Given the description of an element on the screen output the (x, y) to click on. 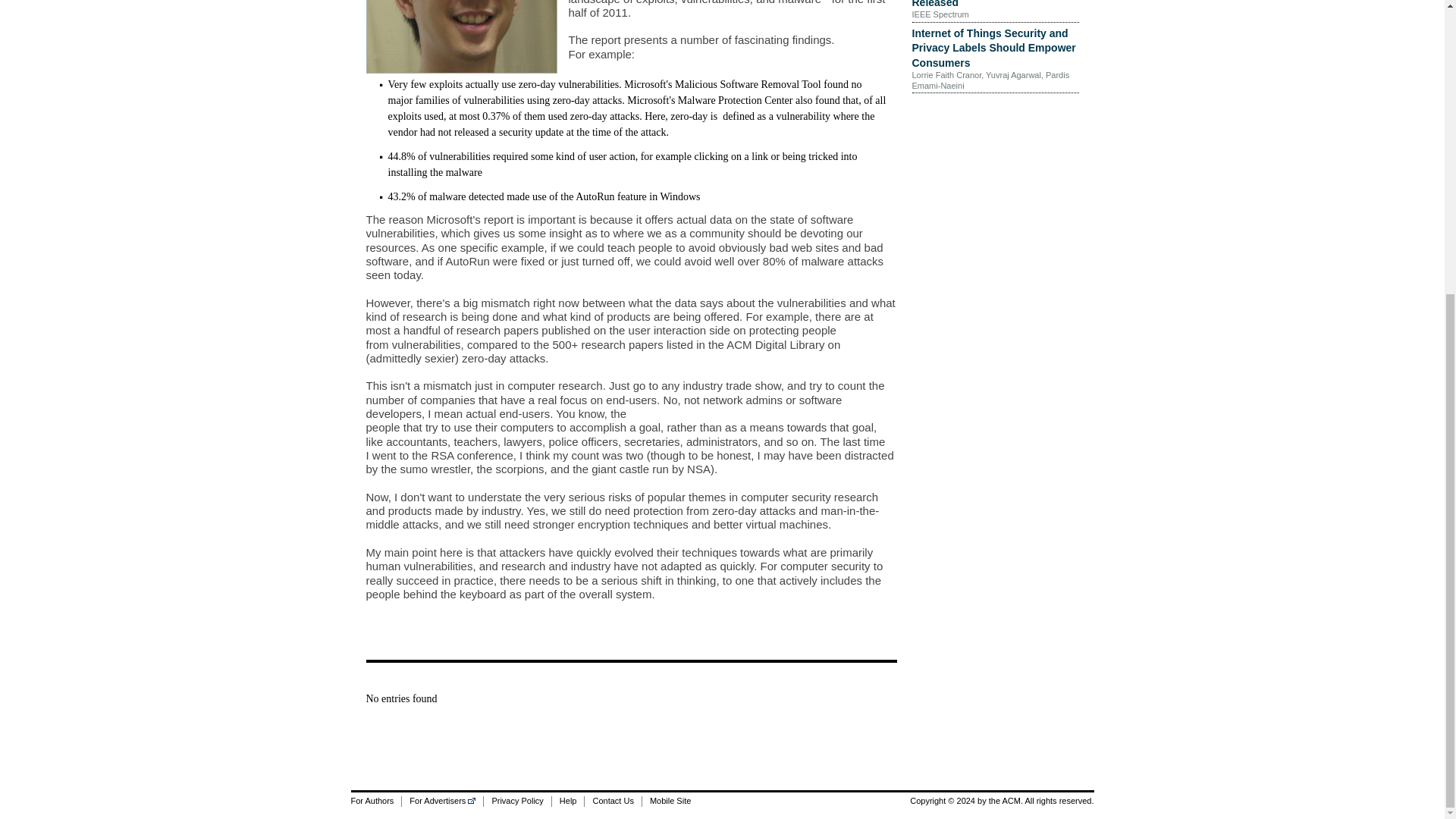
Carnegie Mellon Associate Professor Jason Hong (460, 36)
For Authors (375, 800)
Privacy Policy (516, 800)
Contact Us (611, 800)
Help (568, 800)
For Advertisers (442, 800)
